Given the description of an element on the screen output the (x, y) to click on. 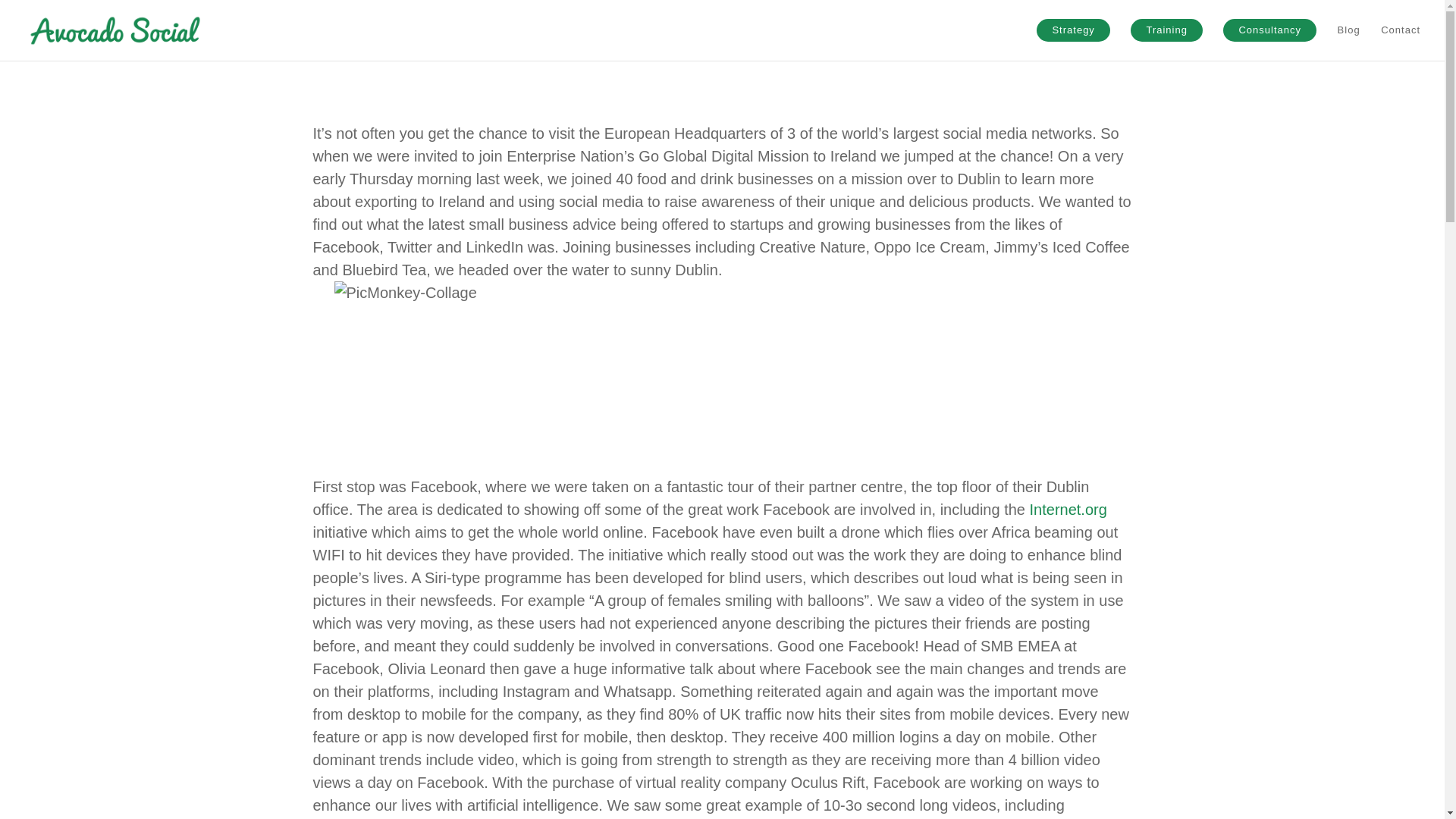
Internet.org (1067, 509)
Contact (1400, 42)
Strategy (1072, 29)
Consultancy (1269, 29)
Training (1166, 29)
